Given the description of an element on the screen output the (x, y) to click on. 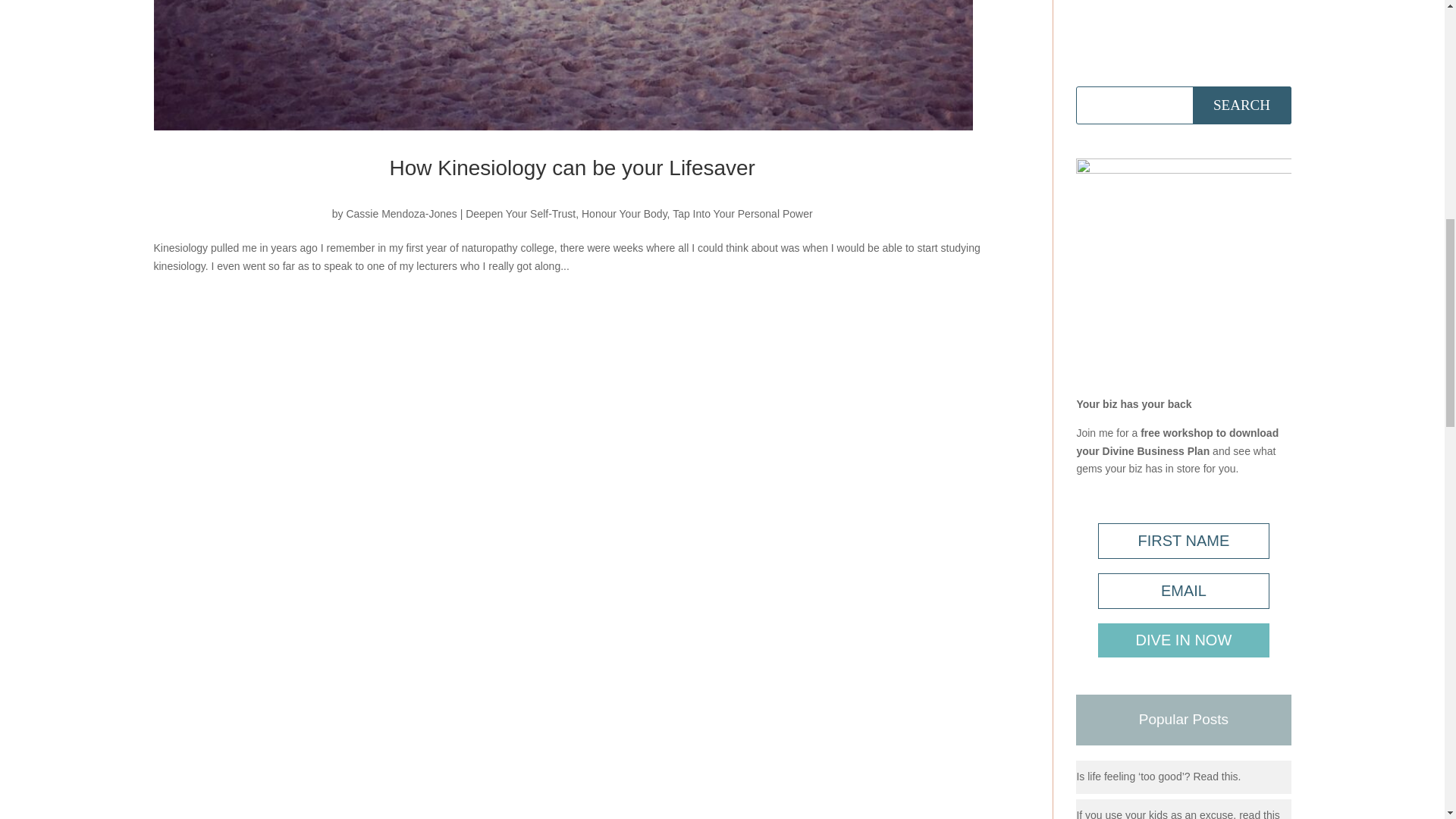
If you use your kids as an excuse, read this (1177, 813)
Tap Into Your Personal Power (742, 214)
Search (1241, 105)
DIVE IN NOW (1183, 640)
DIVE IN NOW (1183, 640)
Posts by Cassie Mendoza-Jones (401, 214)
Honour Your Body (623, 214)
Search (1241, 105)
Cassie Mendoza-Jones (401, 214)
How Kinesiology can be your Lifesaver (571, 167)
Deepen Your Self-Trust (520, 214)
